Given the description of an element on the screen output the (x, y) to click on. 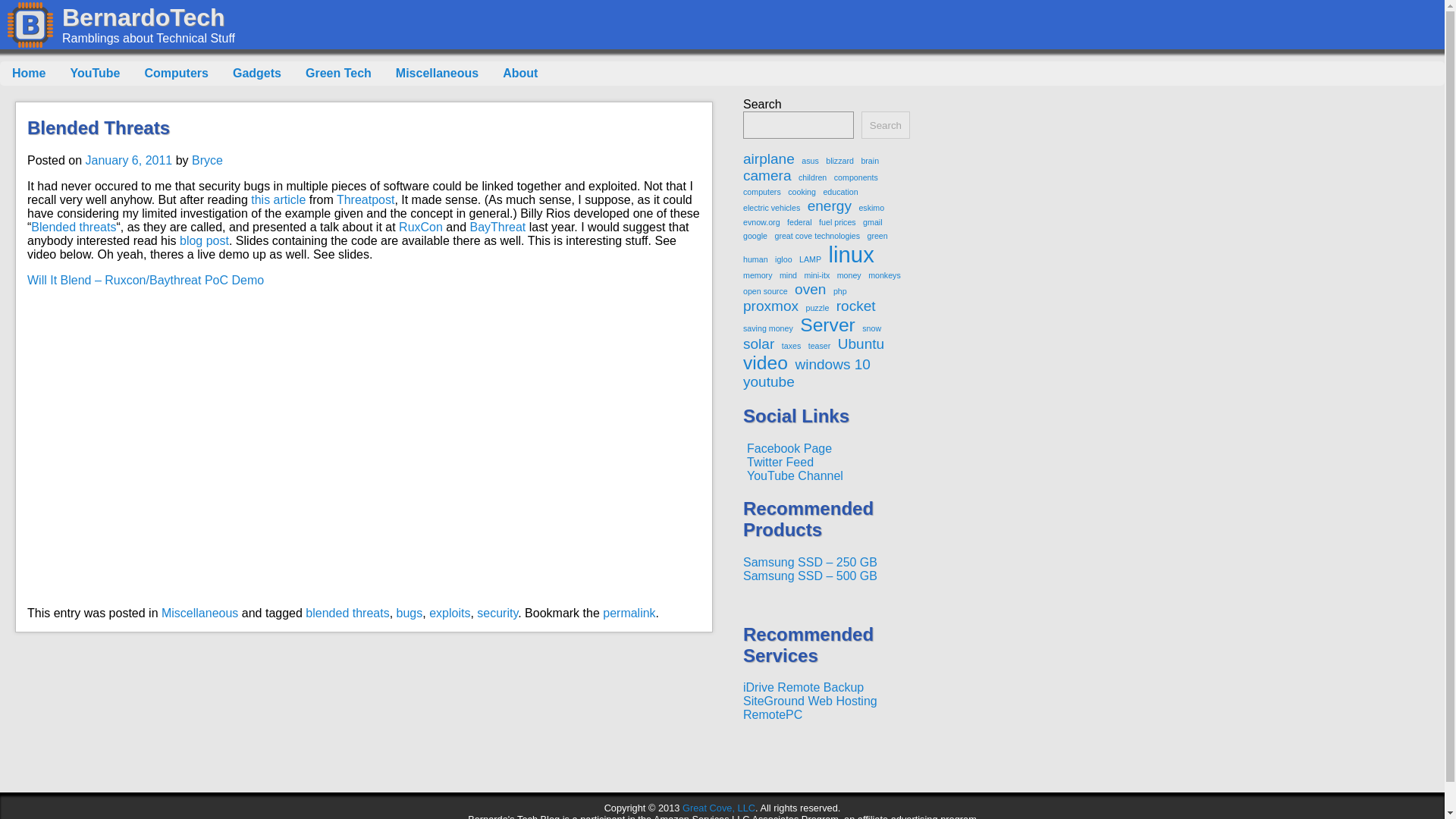
Green Tech (339, 73)
Permalink to Blended Threats (628, 612)
bugs (409, 612)
BernardoTech (143, 17)
security (497, 612)
Wikipedia article (73, 226)
children (812, 176)
Blended threats (73, 226)
blended threats (346, 612)
About (520, 73)
Search (885, 124)
brain (869, 160)
January 6, 2011 (127, 160)
airplane (768, 158)
Home (29, 73)
